Given the description of an element on the screen output the (x, y) to click on. 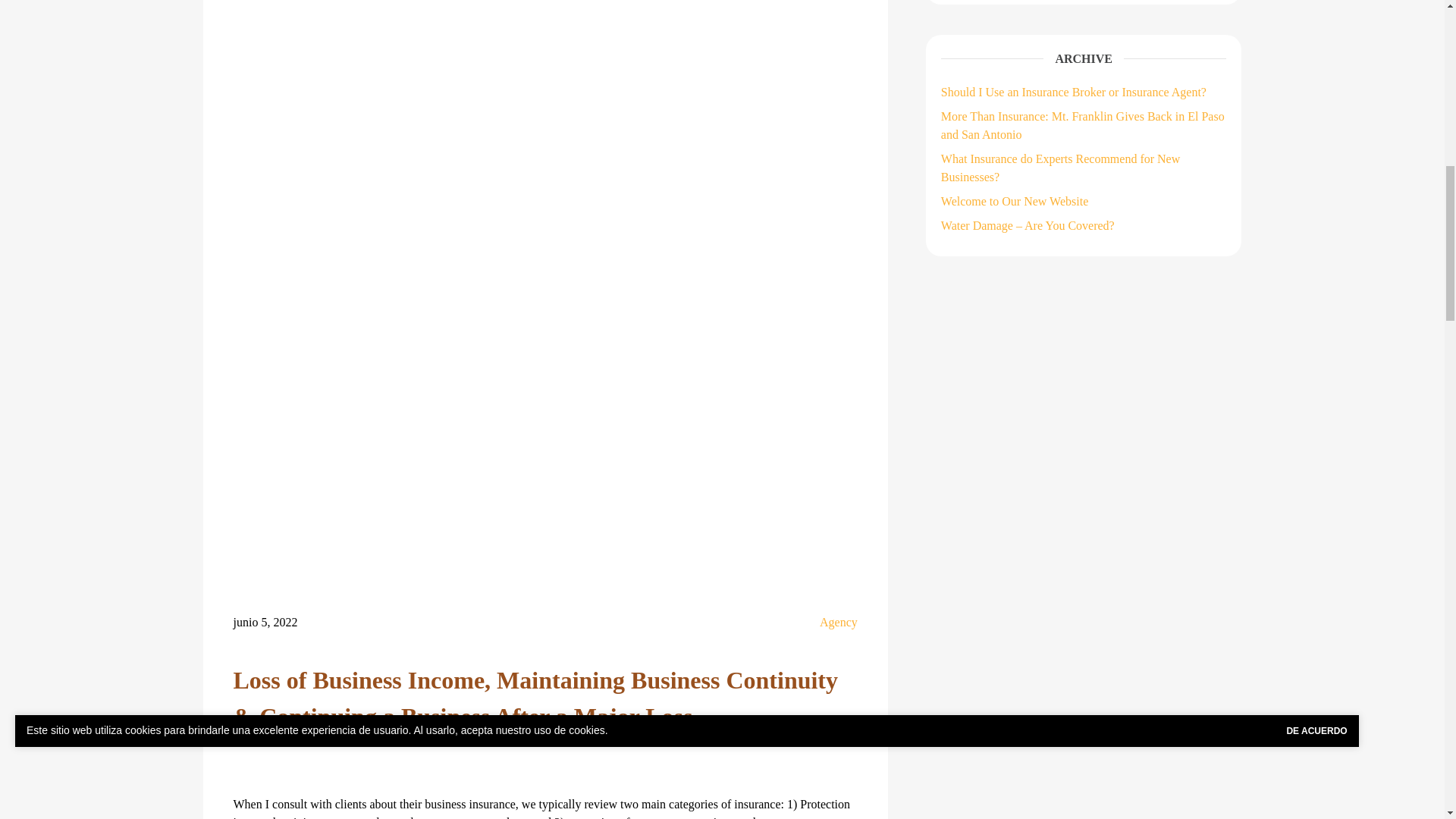
Agency (838, 622)
